Given the description of an element on the screen output the (x, y) to click on. 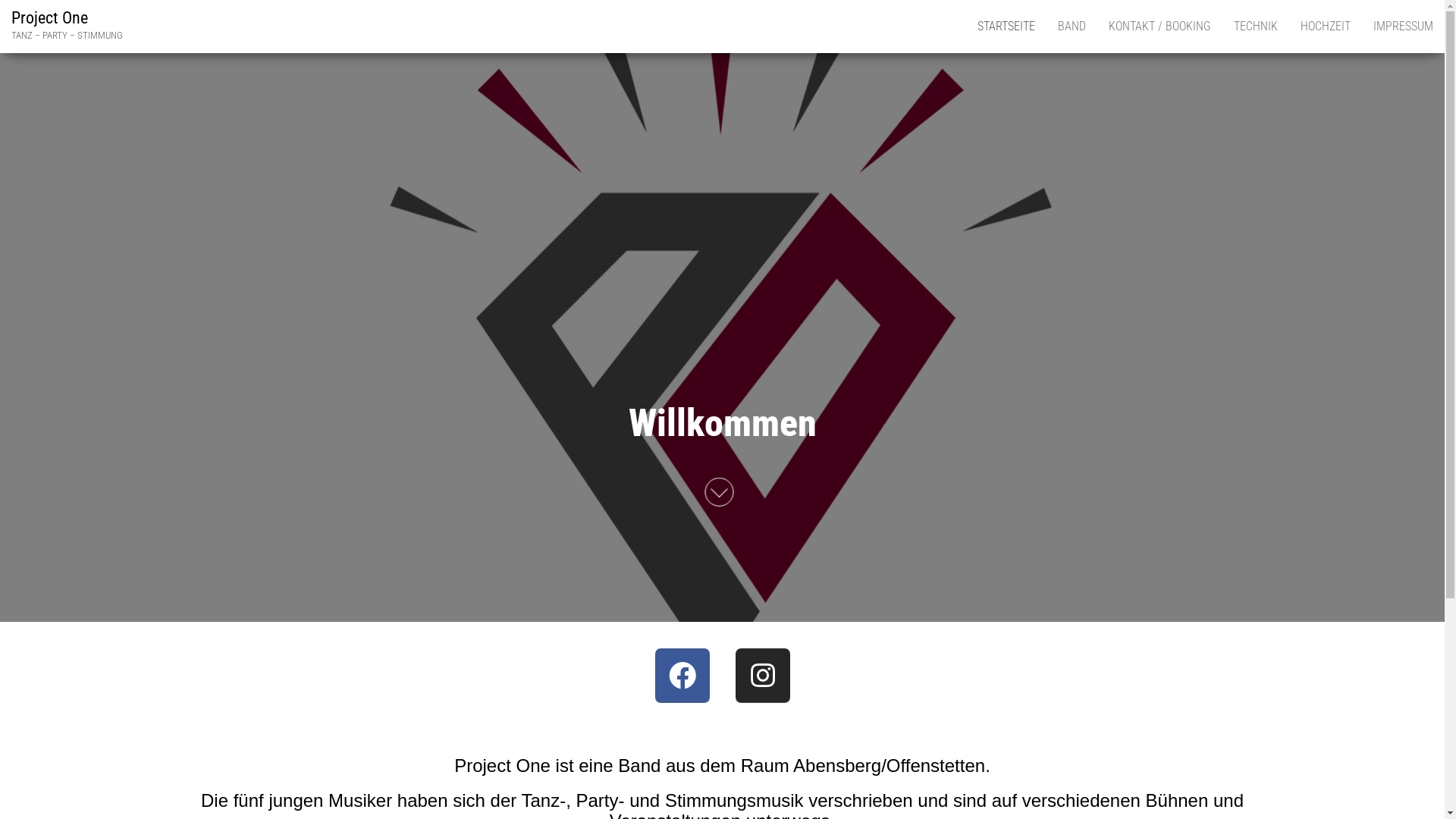
BAND Element type: text (1071, 26)
HOCHZEIT Element type: text (1325, 26)
KONTAKT / BOOKING Element type: text (1159, 26)
TECHNIK Element type: text (1255, 26)
Project One Element type: text (49, 17)
IMPRESSUM Element type: text (1402, 26)
STARTSEITE Element type: text (1006, 26)
